Given the description of an element on the screen output the (x, y) to click on. 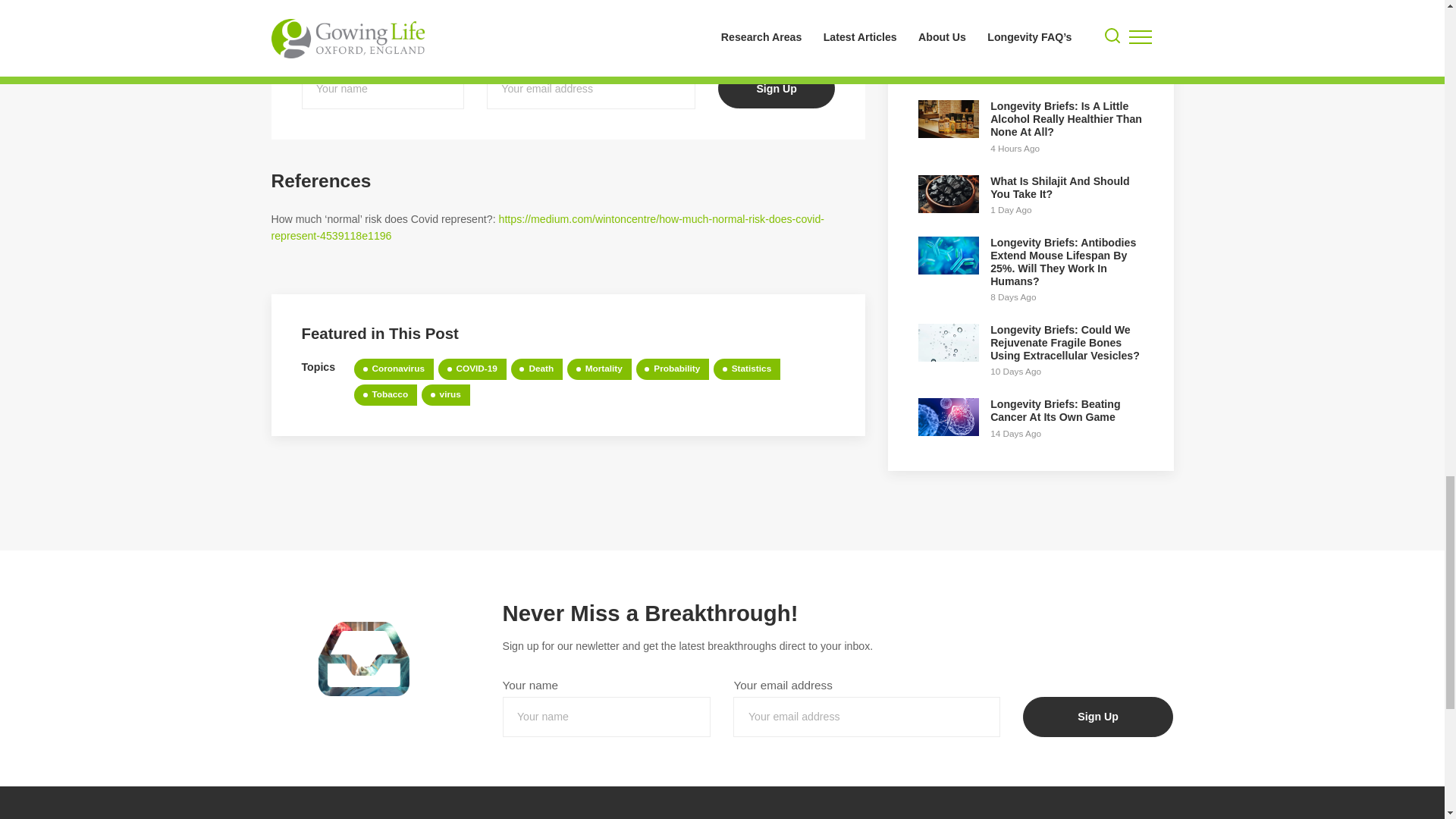
Sign Up (1098, 716)
Coronavirus (393, 369)
Sign Up (775, 87)
COVID-19 (472, 369)
Sign Up (775, 87)
